Given the description of an element on the screen output the (x, y) to click on. 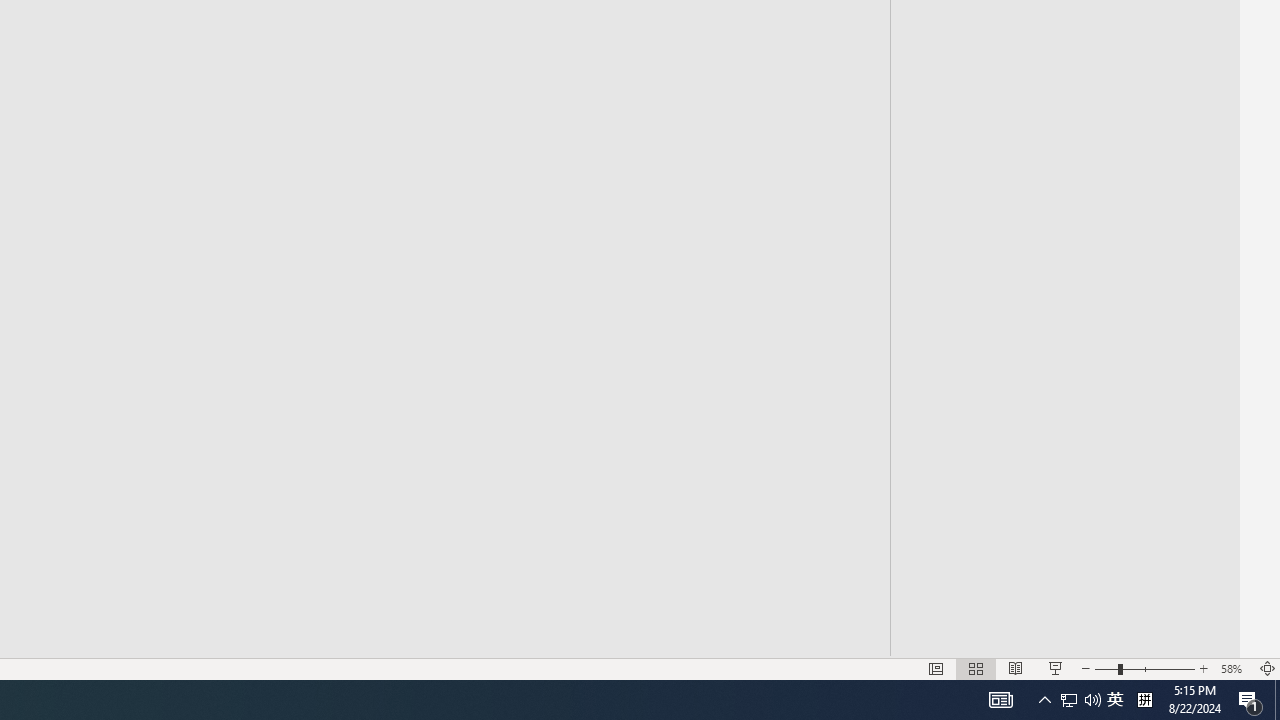
Zoom In (1204, 668)
Slide Sorter (975, 668)
Zoom to Fit  (1267, 668)
Normal (936, 668)
Zoom (1144, 668)
Zoom Out (1105, 668)
Reading View (1015, 668)
Zoom 58% (1234, 668)
